Given the description of an element on the screen output the (x, y) to click on. 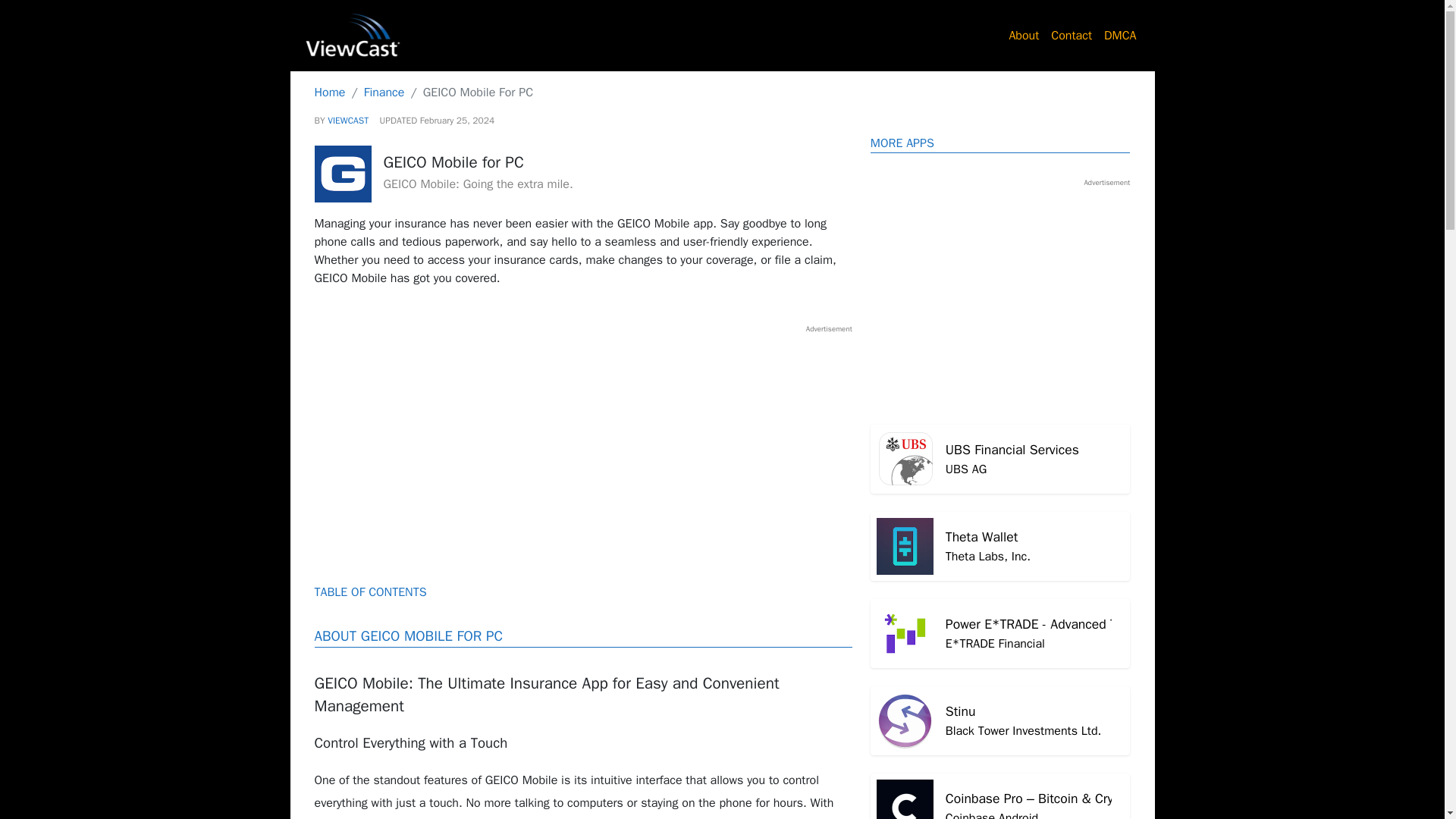
Advertisement (582, 440)
Contact (1071, 35)
Stinu for PC (1000, 720)
UBS Financial Services for PC (1000, 459)
Finance (1000, 545)
VIEWCAST (1000, 459)
GEICO Mobile for PC (384, 92)
Advertisement (347, 120)
